Given the description of an element on the screen output the (x, y) to click on. 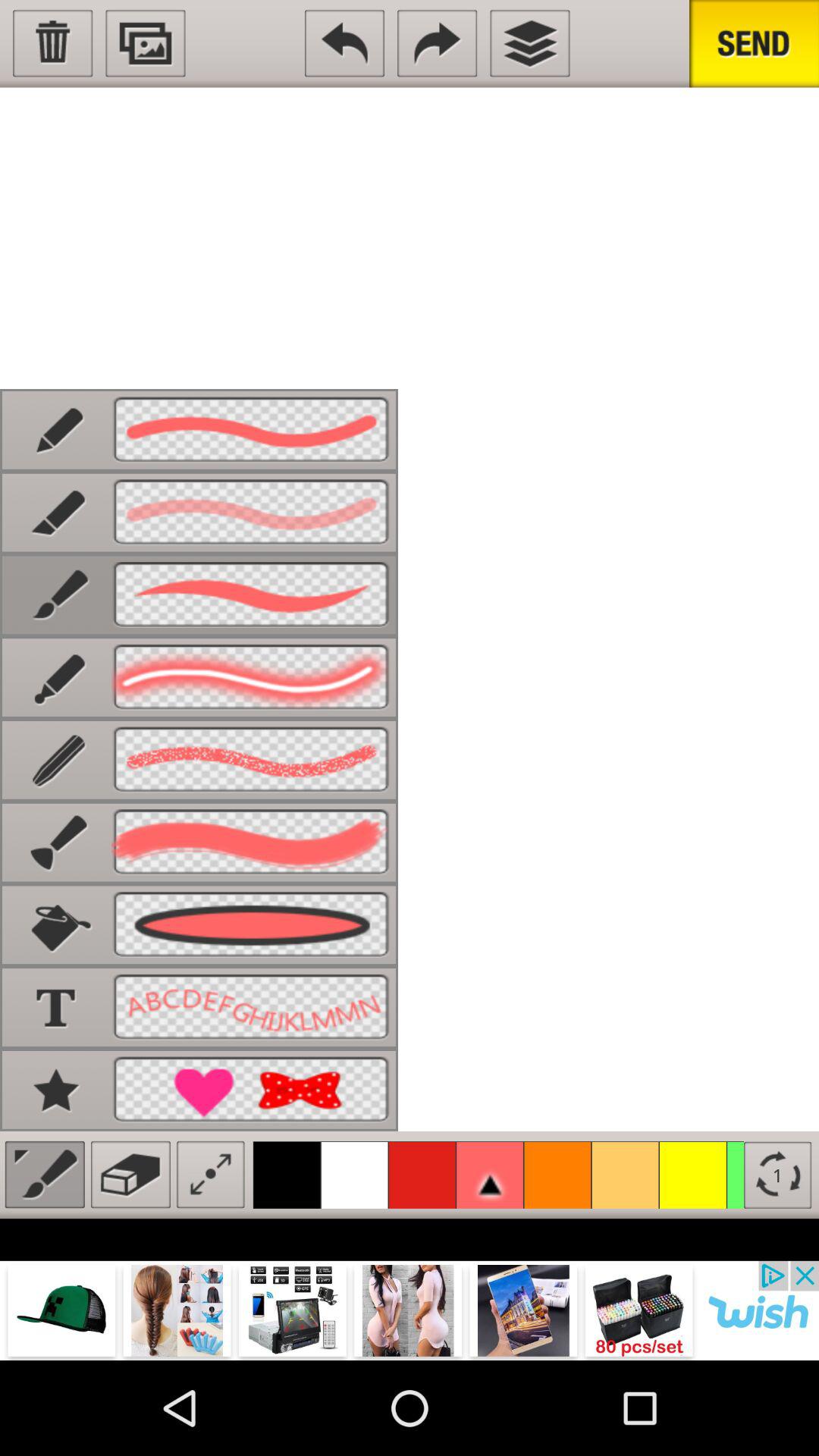
next page (437, 43)
